Given the description of an element on the screen output the (x, y) to click on. 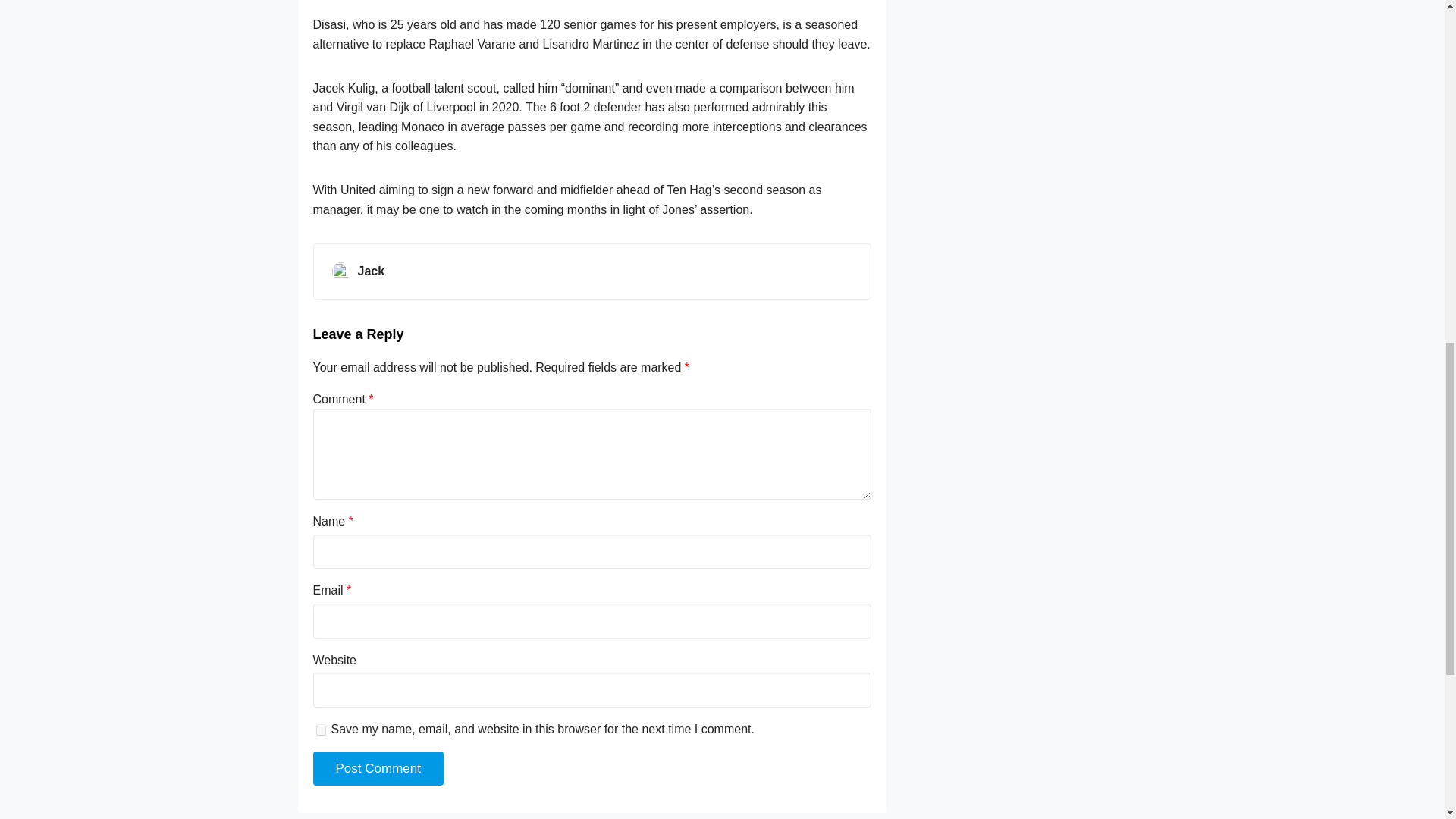
Post Comment (377, 768)
Post Comment (377, 768)
